Given the description of an element on the screen output the (x, y) to click on. 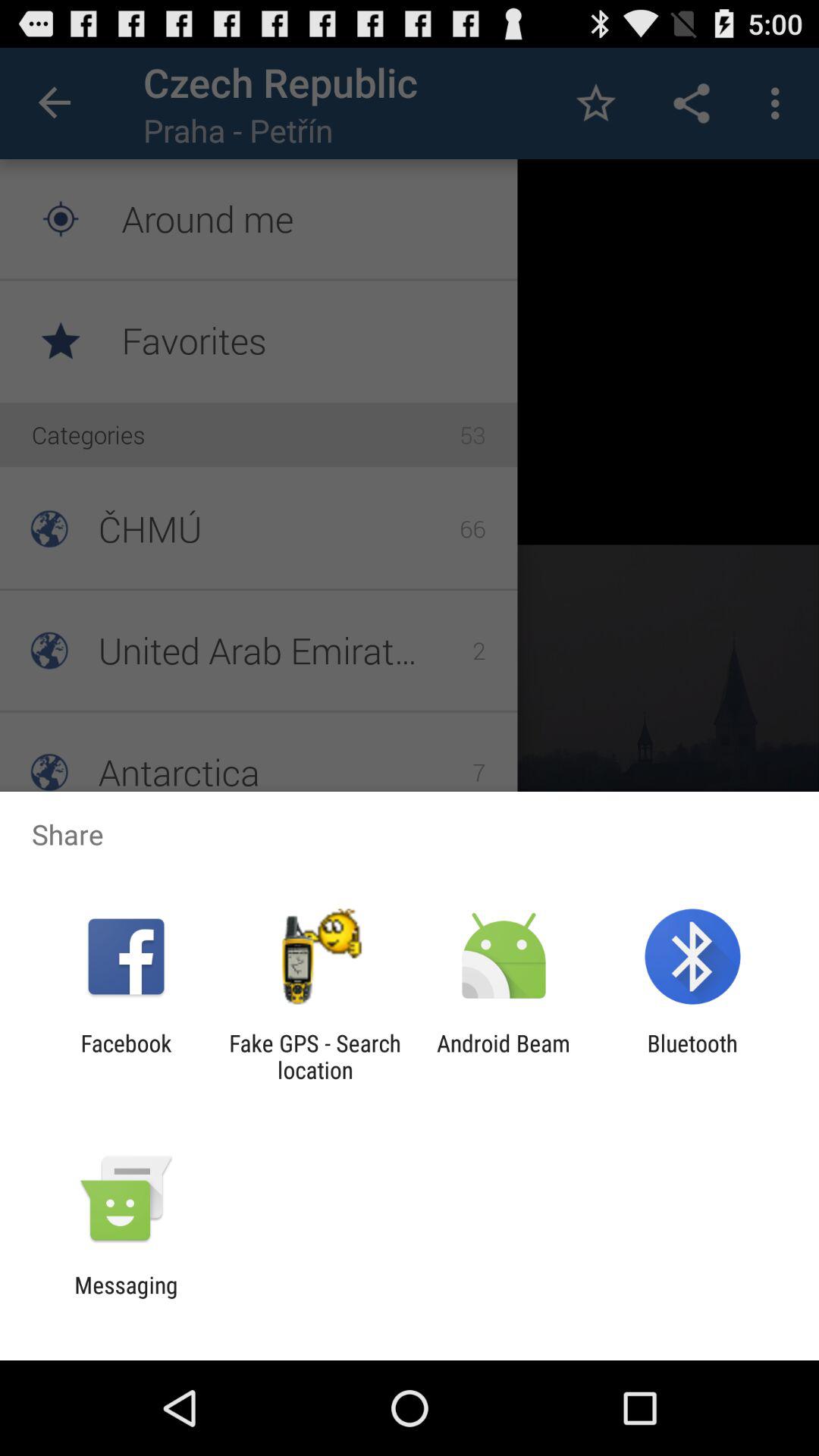
open the item to the left of the fake gps search item (125, 1056)
